Given the description of an element on the screen output the (x, y) to click on. 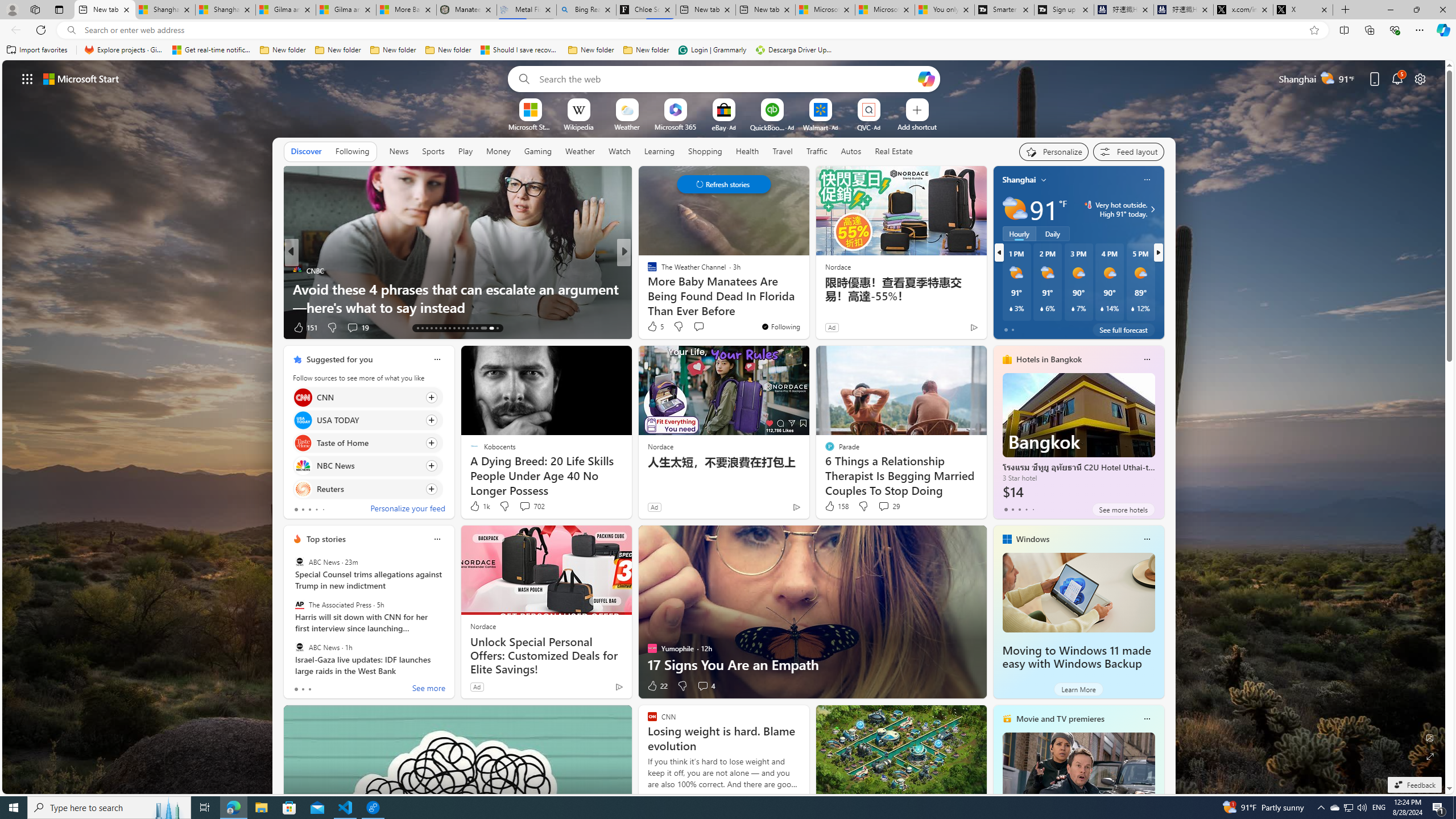
Learning (659, 151)
Enter your search term (726, 78)
Shanghai, China weather forecast | Microsoft Weather (225, 9)
Favorites bar (728, 49)
hotels-header-icon (1006, 358)
AutomationID: tab-25 (472, 328)
See more hotels (1123, 509)
Sports (432, 151)
